Given the description of an element on the screen output the (x, y) to click on. 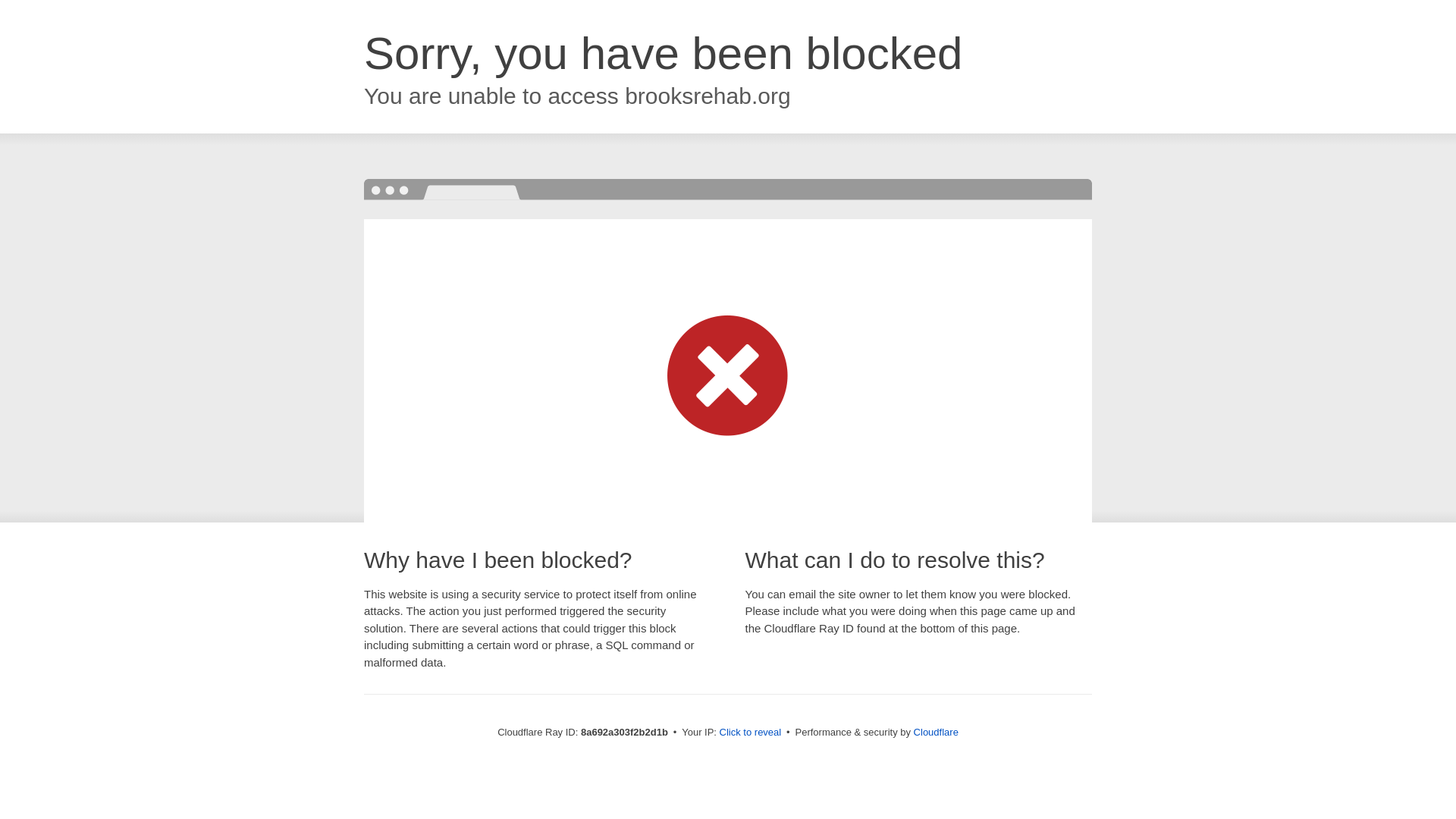
Click to reveal (750, 732)
Cloudflare (936, 731)
